Given the description of an element on the screen output the (x, y) to click on. 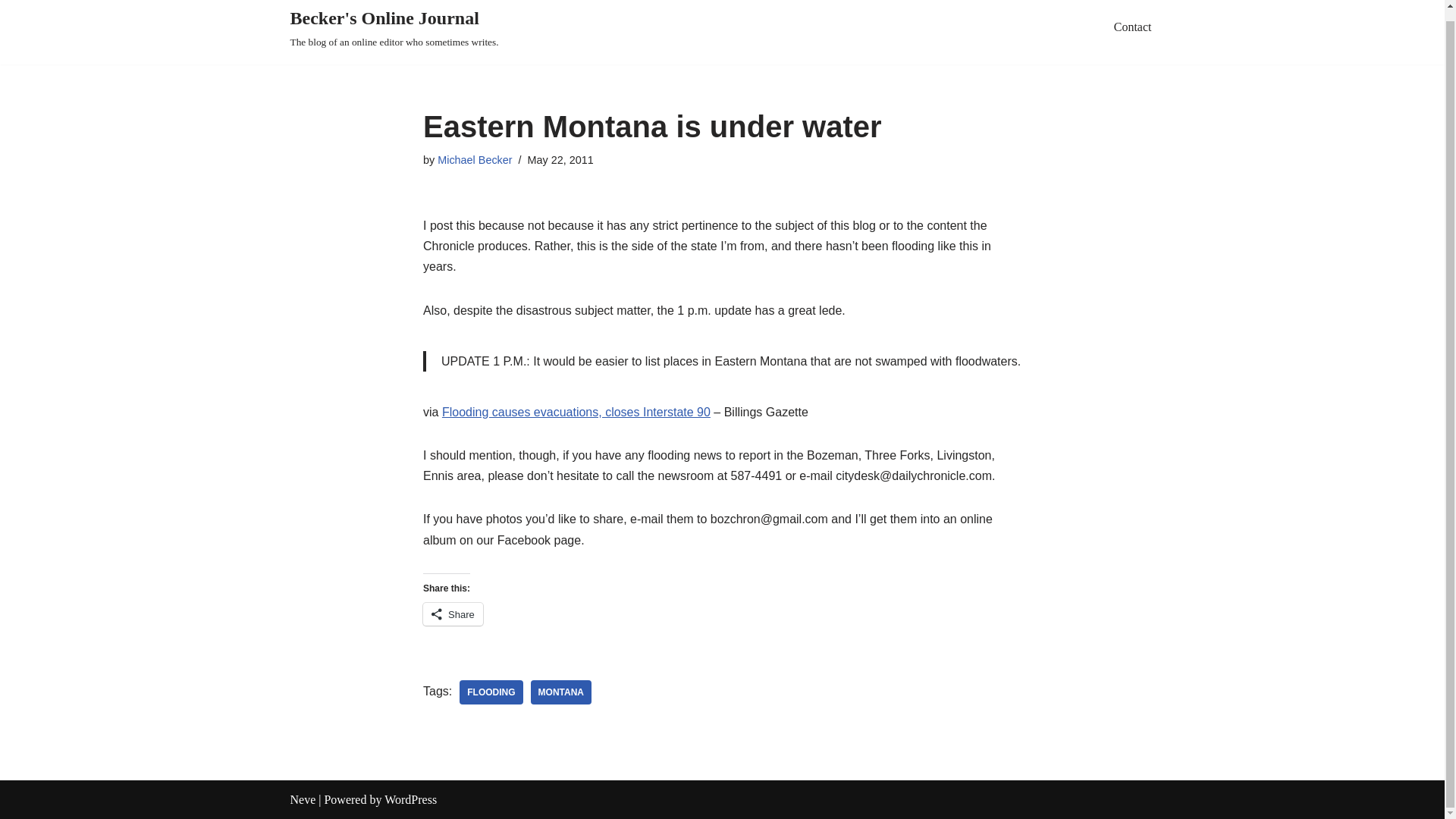
FLOODING (491, 692)
Montana (561, 692)
Michael Becker (475, 159)
flooding (491, 692)
WordPress (410, 799)
Share (453, 613)
Flooding causes evacuations, closes Interstate 90 (576, 411)
Contact (1132, 26)
Posts by Michael Becker (475, 159)
